Given the description of an element on the screen output the (x, y) to click on. 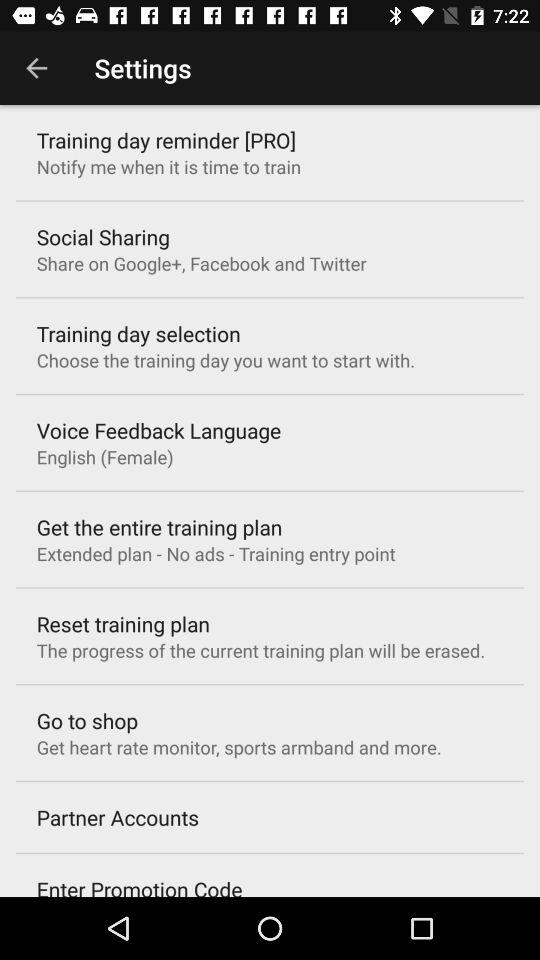
launch icon above extended plan no icon (159, 527)
